Given the description of an element on the screen output the (x, y) to click on. 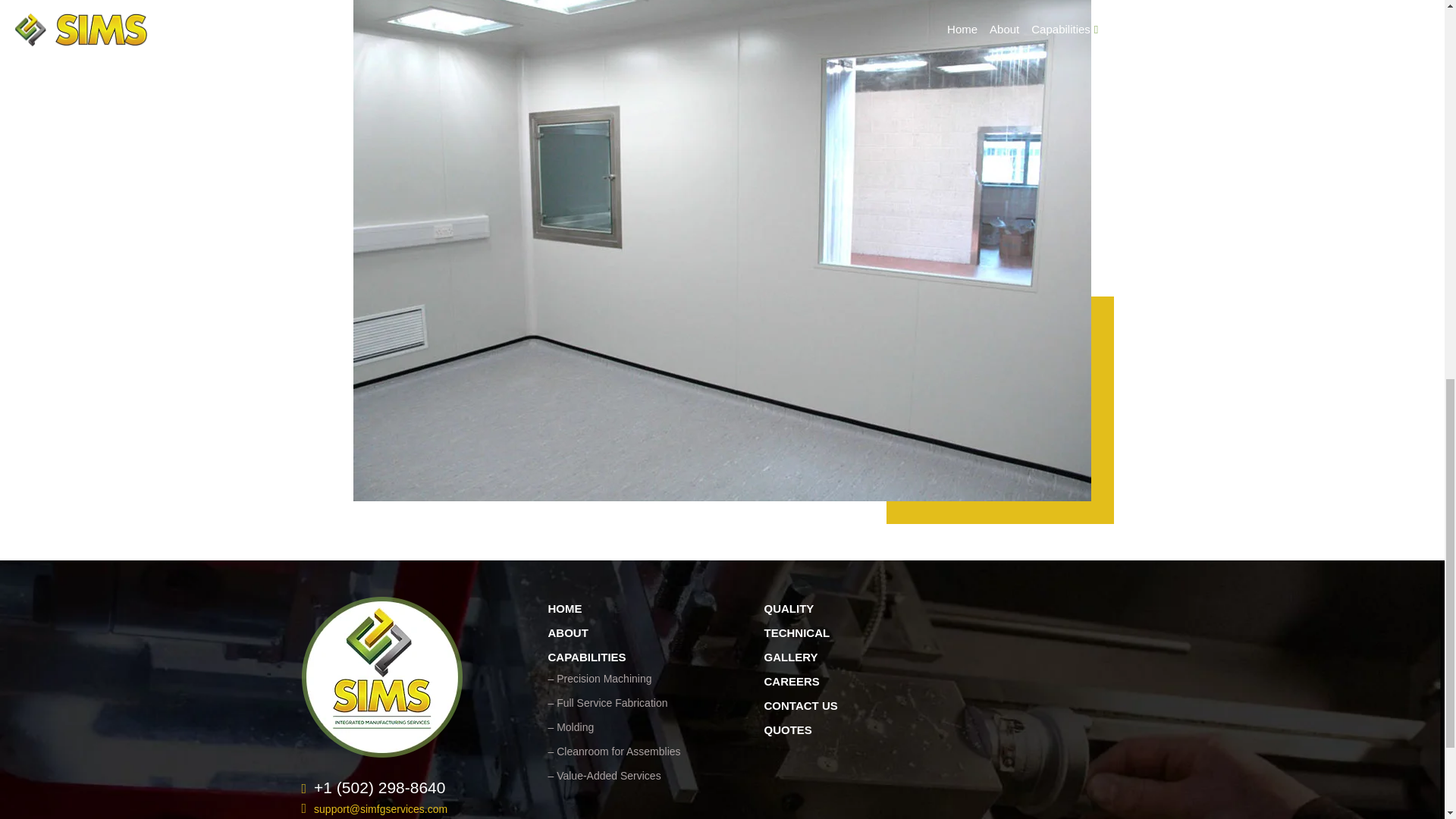
CONTACT US (801, 705)
TECHNICAL (796, 632)
HOME (563, 608)
CAREERS (791, 680)
ABOUT (567, 632)
GALLERY (791, 656)
QUOTES (788, 729)
QUALITY (788, 608)
CAPABILITIES (586, 656)
